Given the description of an element on the screen output the (x, y) to click on. 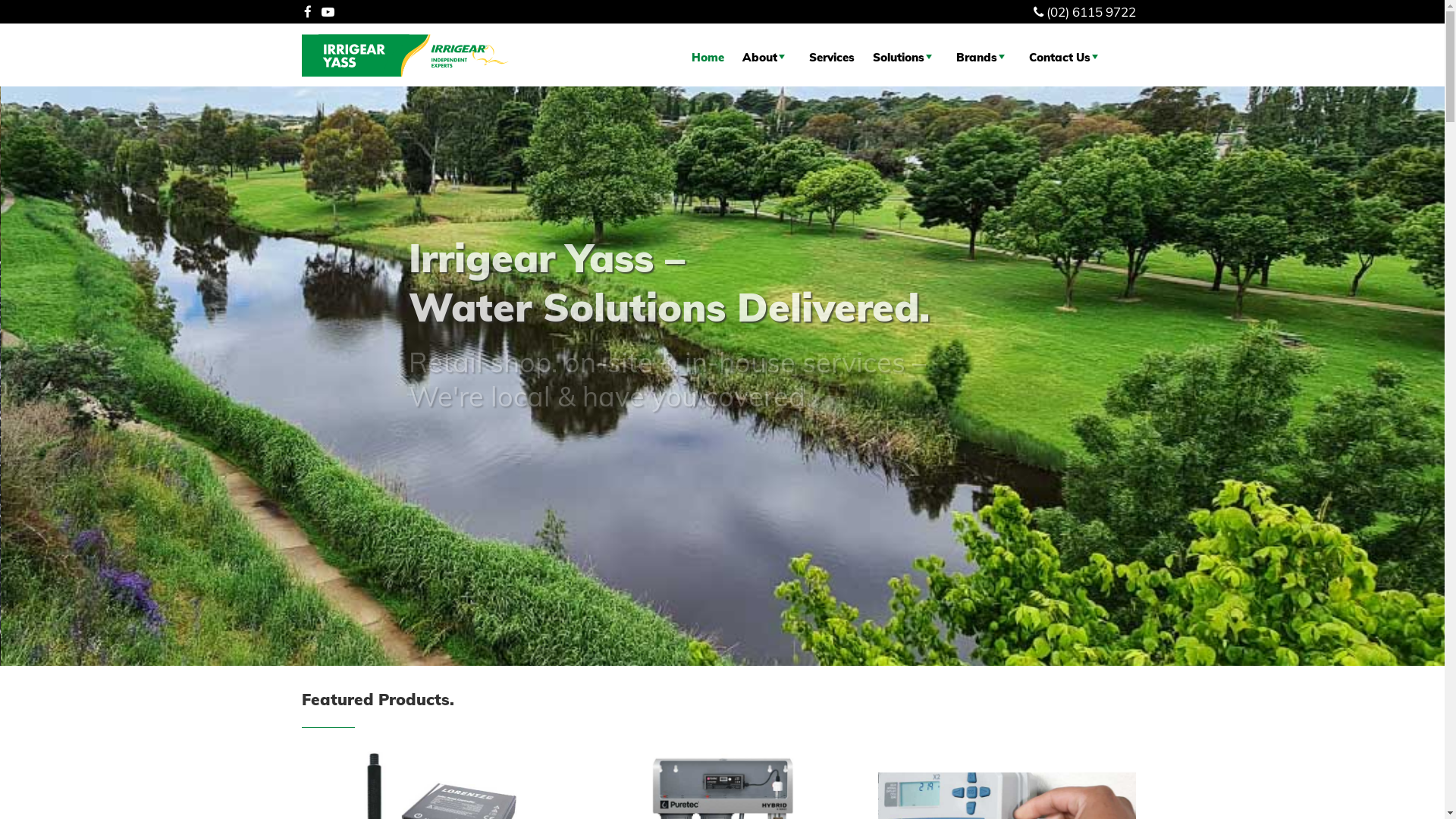
(02) 6115 9722 Element type: text (1090, 11)
Contact Us Element type: text (1066, 57)
Services Element type: text (831, 57)
Home Element type: text (707, 57)
About Element type: text (766, 57)
Contact Us Today Element type: text (481, 445)
Brands Element type: text (983, 57)
Solutions Element type: text (905, 57)
